Given the description of an element on the screen output the (x, y) to click on. 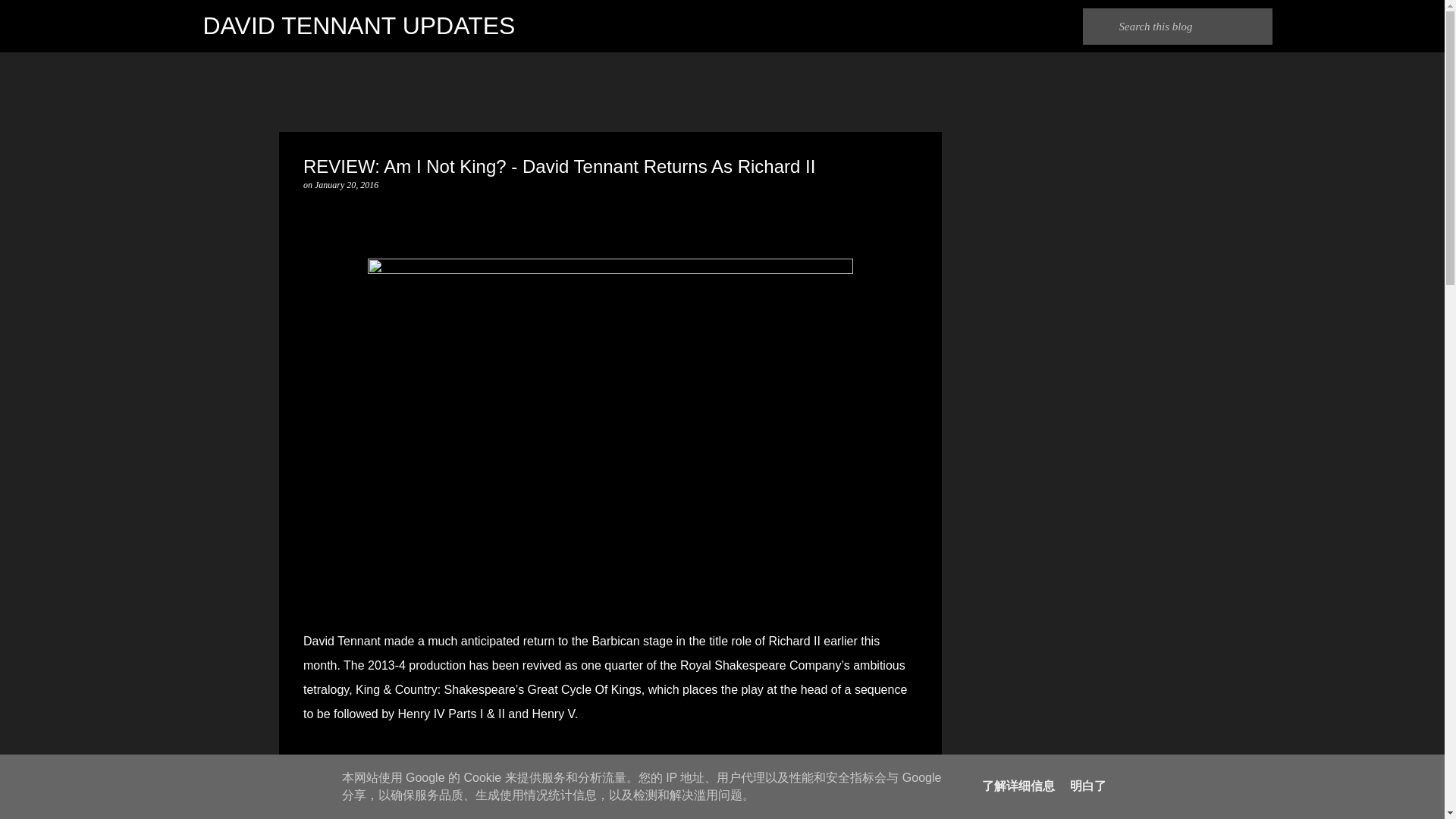
permanent link (346, 184)
DAVID TENNANT UPDATES (359, 25)
January 20, 2016 (346, 184)
